Given the description of an element on the screen output the (x, y) to click on. 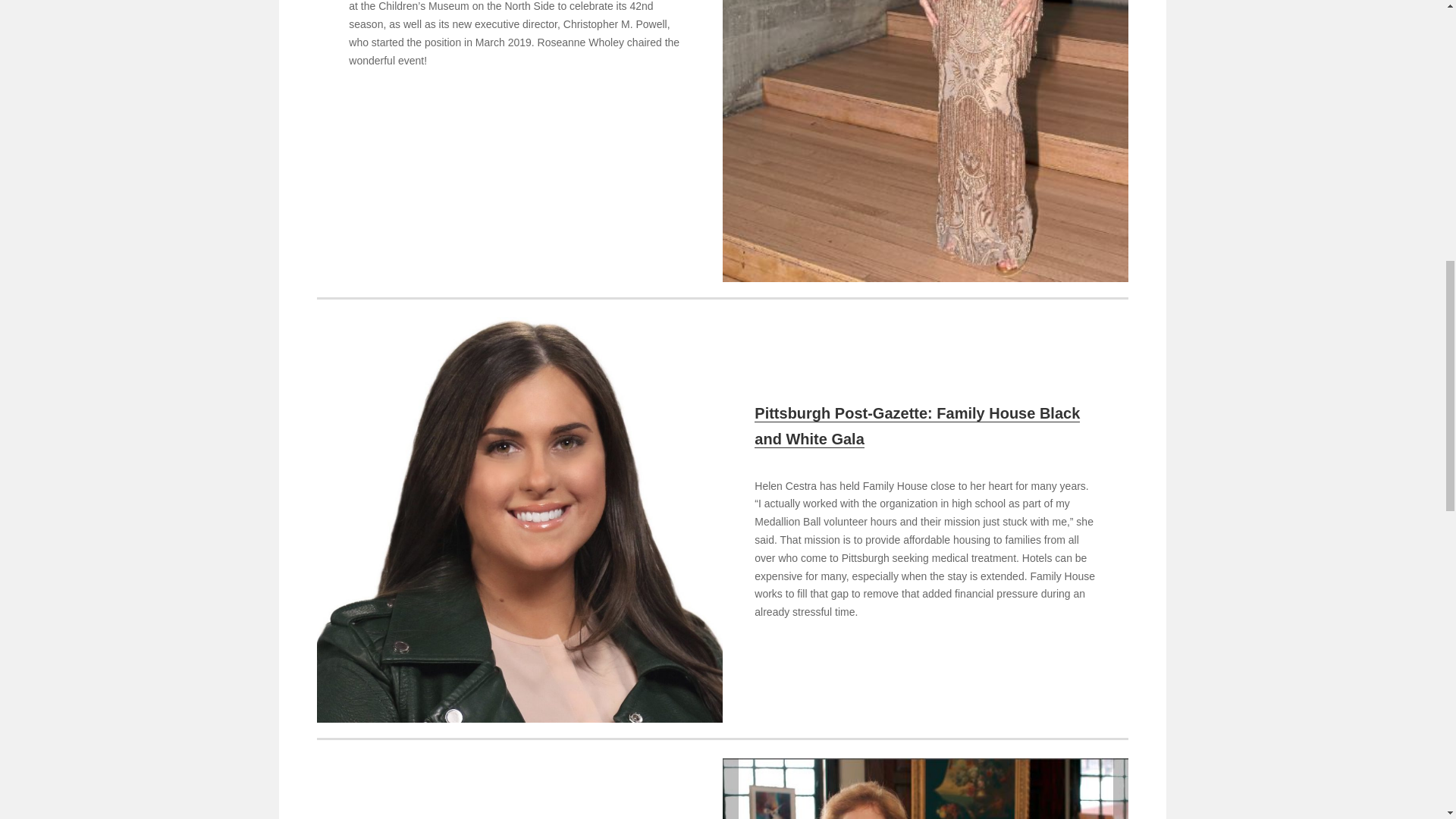
Pittsburgh Post-Gazette: Family House Black and White Gala (917, 425)
